Given the description of an element on the screen output the (x, y) to click on. 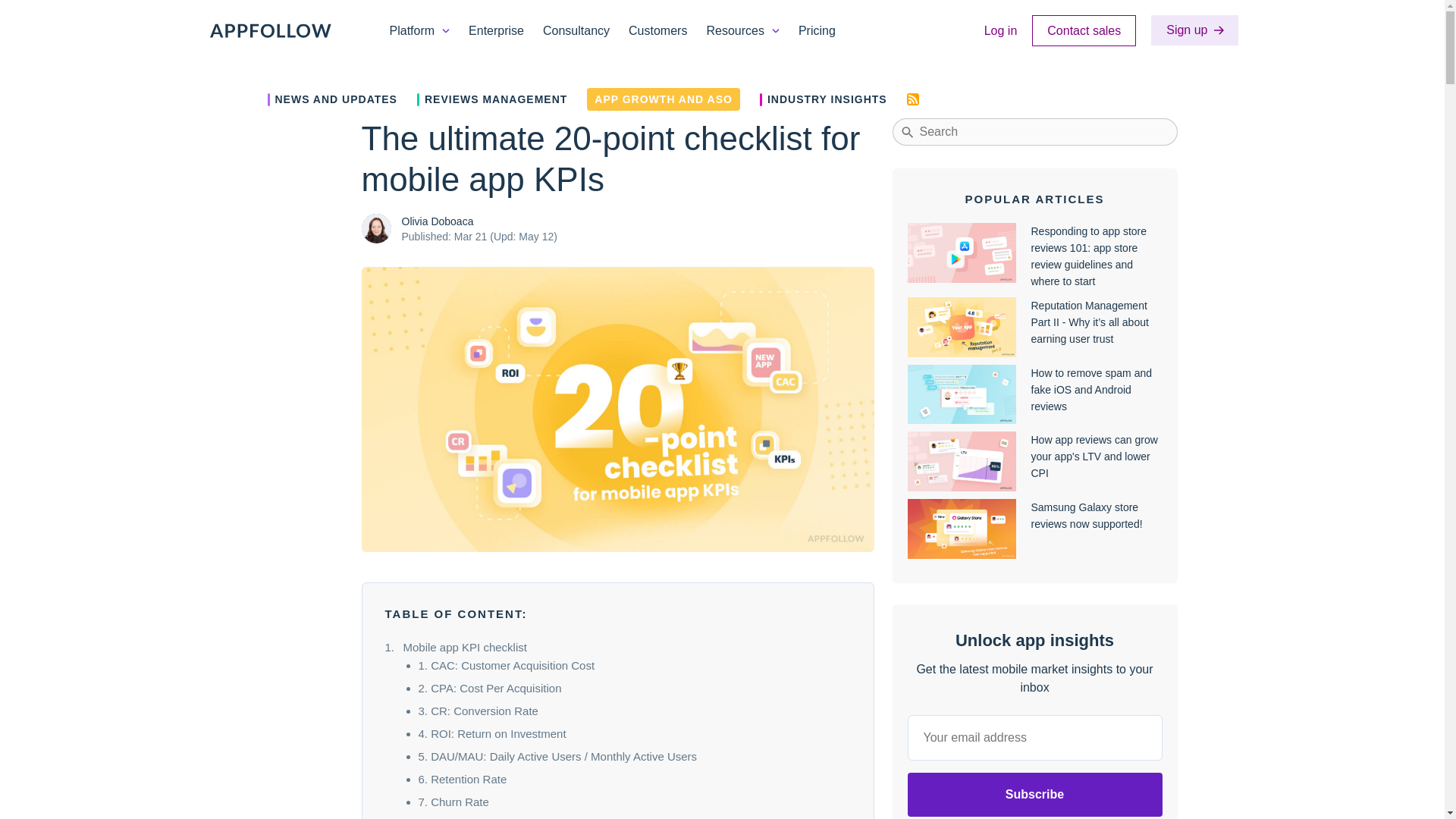
REVIEWS MANAGEMENT (491, 98)
APP GROWTH AND ASO (662, 98)
Olivia Doboaca (375, 228)
Consultancy (576, 30)
Log in (1000, 30)
NEWS AND UPDATES (331, 98)
Sign up (1194, 30)
Enterprise (496, 30)
Customers (657, 30)
Contact sales (1083, 30)
